Given the description of an element on the screen output the (x, y) to click on. 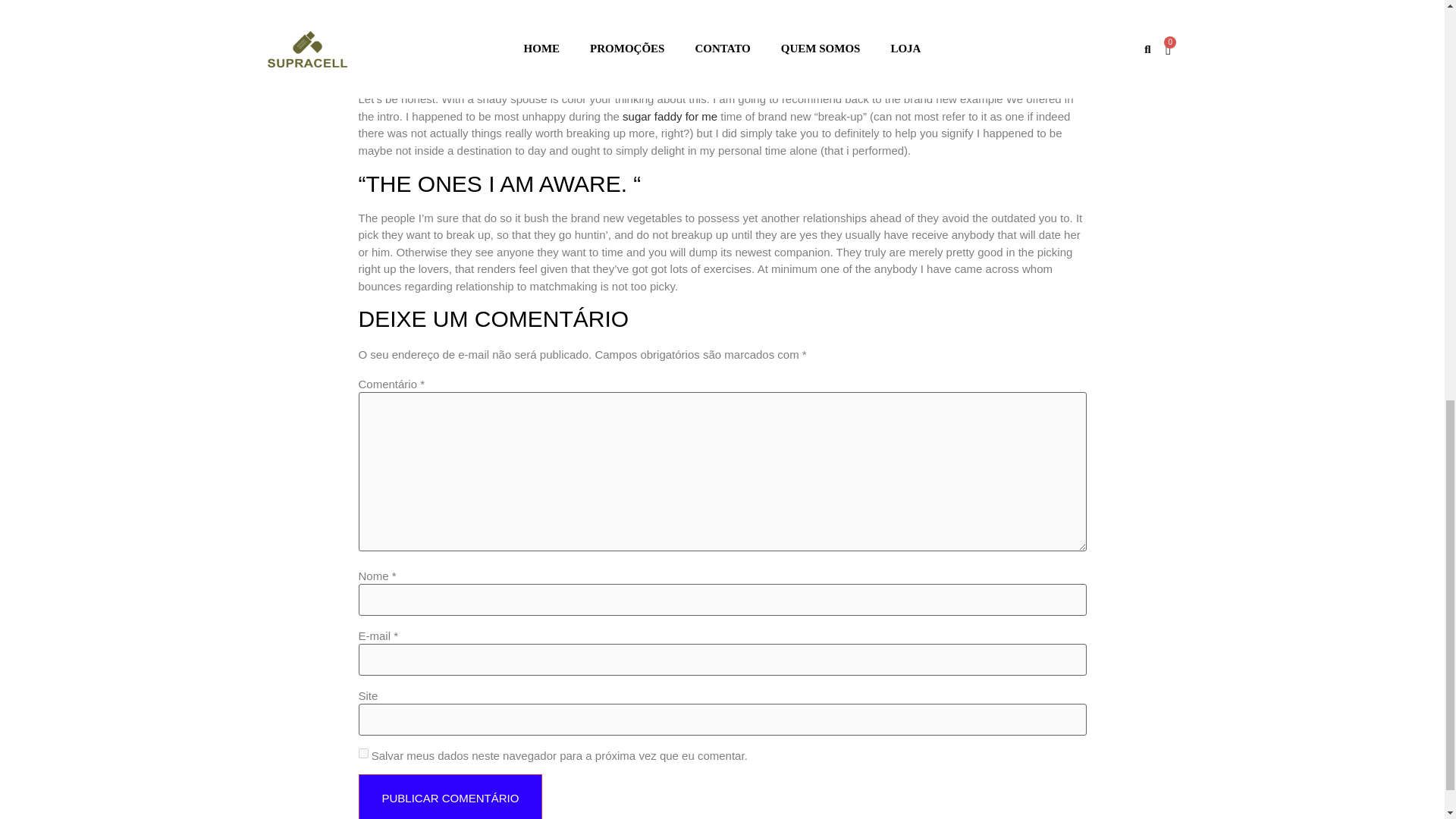
yes (363, 753)
sugar faddy for me (671, 115)
